Given the description of an element on the screen output the (x, y) to click on. 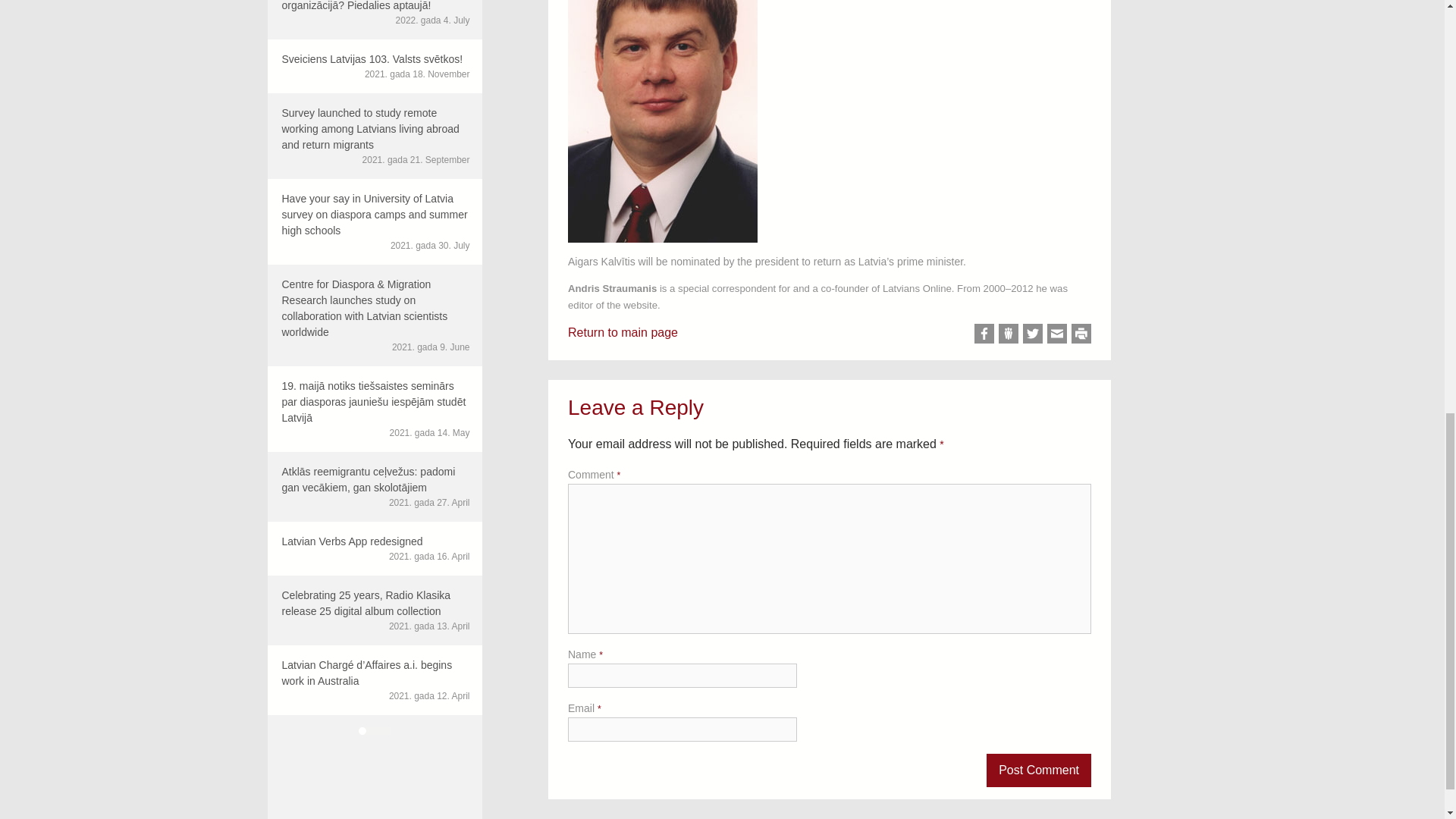
Print (1080, 333)
Share on Draugiem.lv (1007, 333)
Share via Email (1056, 333)
Post Comment (1038, 770)
Share on Twitter (373, 548)
Share on Facebook (1032, 333)
